Given the description of an element on the screen output the (x, y) to click on. 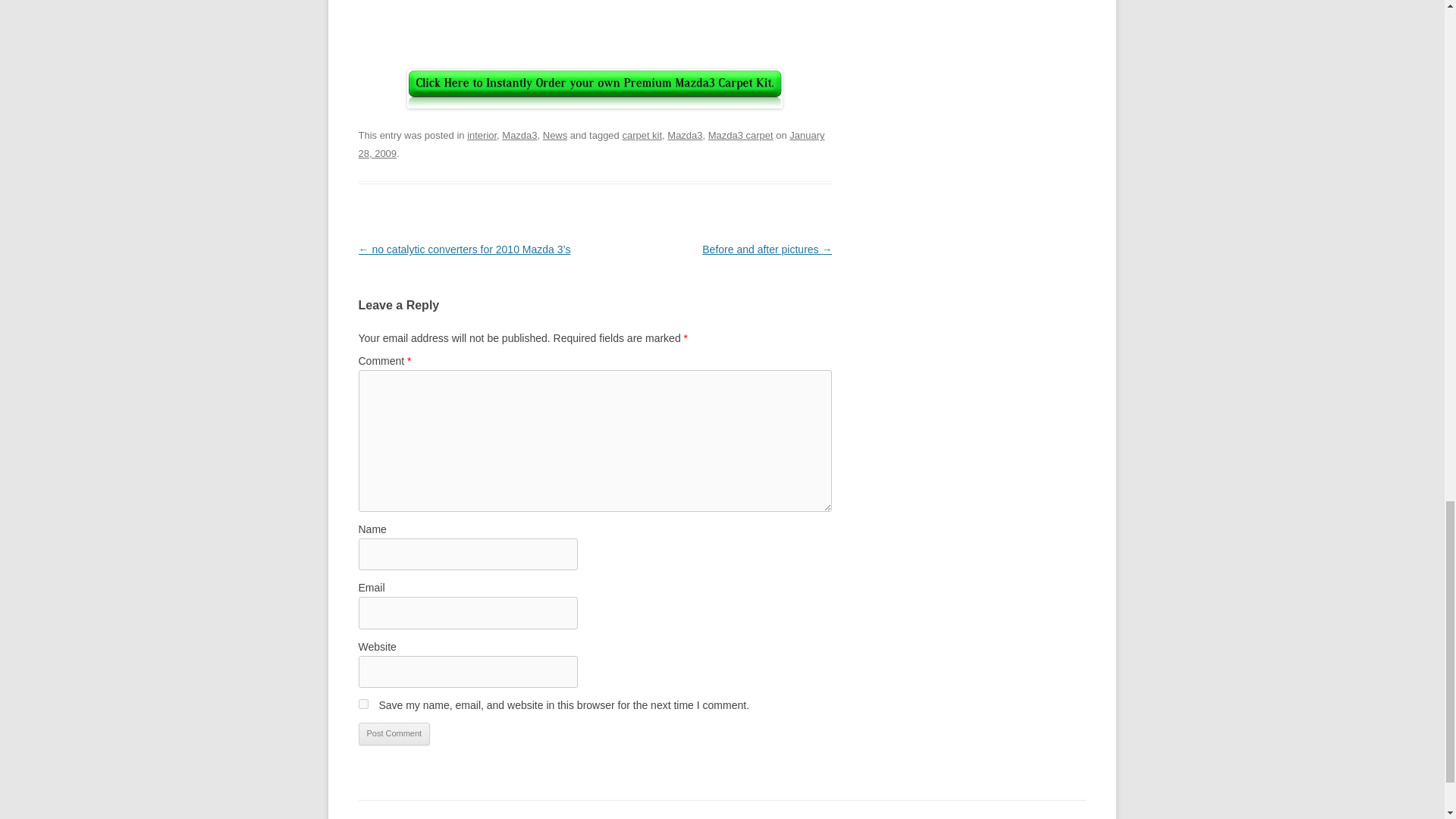
carpet kit (641, 134)
Post Comment (393, 733)
Mazda3 (683, 134)
Mazda3 carpet (740, 134)
News (555, 134)
interior (481, 134)
Post Comment (393, 733)
yes (363, 704)
January 28, 2009 (591, 143)
3:19 pm (591, 143)
Mazda3 (519, 134)
postfooter (595, 88)
